Given the description of an element on the screen output the (x, y) to click on. 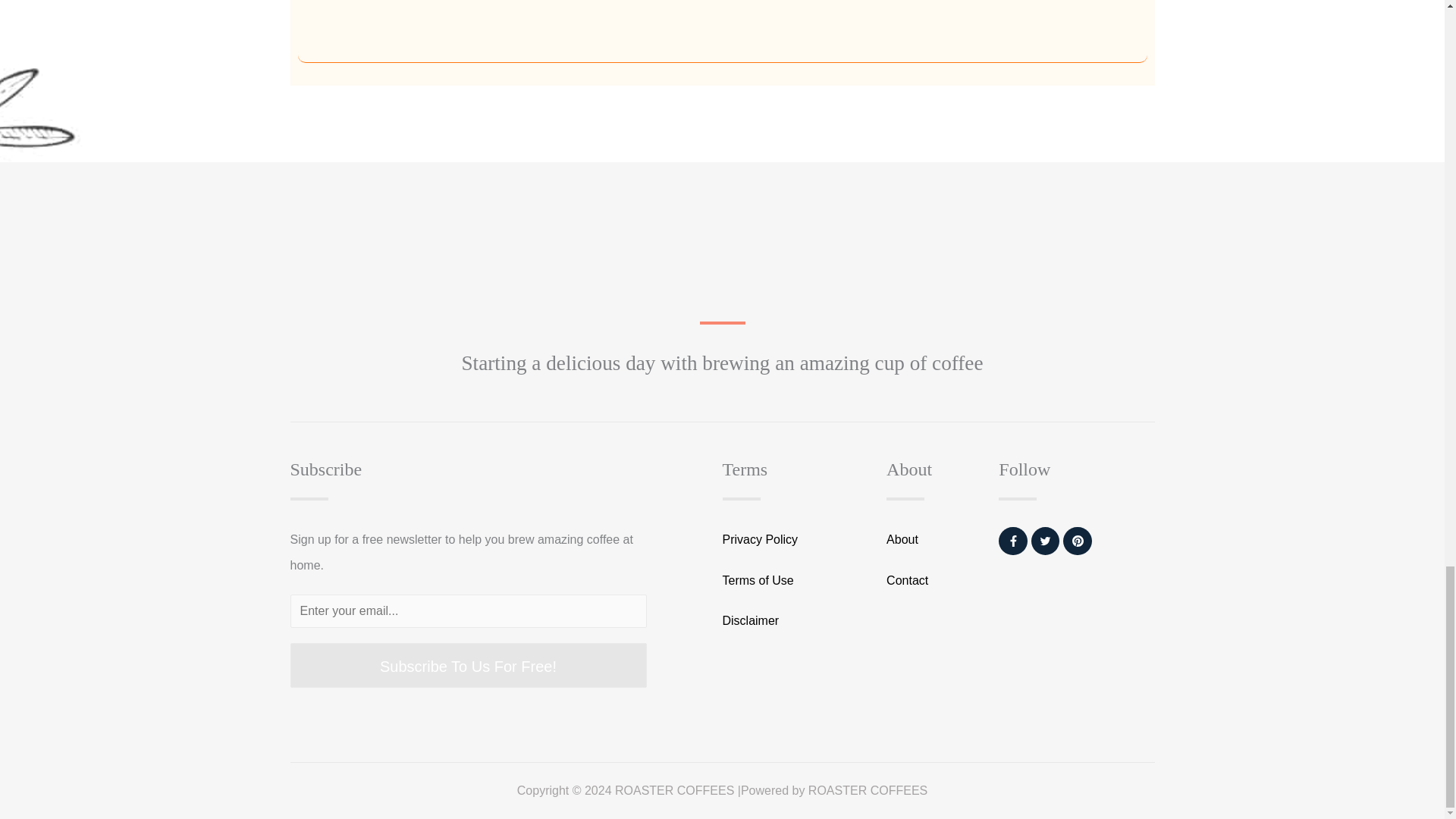
Disclaimer (791, 620)
Privacy Policy (791, 539)
About (929, 539)
Subscribe To Us For Free! (467, 664)
Terms of Use (791, 580)
Contact (929, 580)
